Given the description of an element on the screen output the (x, y) to click on. 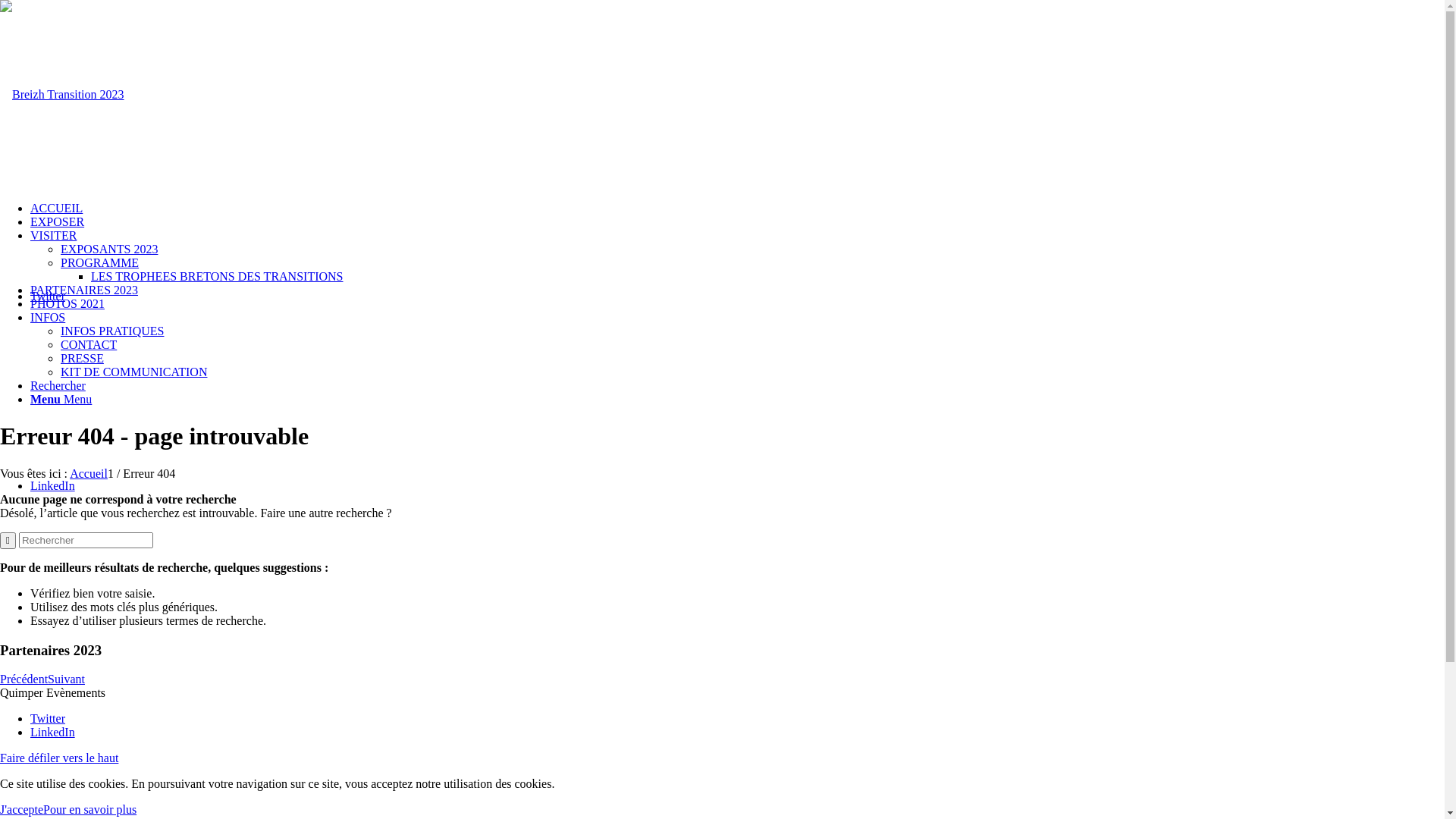
Suivant Element type: text (65, 678)
Menu Menu Element type: text (60, 398)
INFOS Element type: text (47, 316)
Twitter Element type: text (47, 295)
J'accepte Element type: text (21, 809)
CONTACT Element type: text (88, 344)
PHOTOS 2021 Element type: text (67, 303)
Accueil Element type: text (88, 473)
LinkedIn Element type: text (52, 731)
LinkedIn Element type: text (52, 485)
PRESSE Element type: text (81, 357)
Twitter Element type: text (47, 718)
INFOS PRATIQUES Element type: text (111, 330)
PROGRAMME Element type: text (99, 262)
LES TROPHEES BRETONS DES TRANSITIONS Element type: text (217, 275)
EXPOSER Element type: text (57, 221)
VISITER Element type: text (53, 235)
PARTENAIRES 2023 Element type: text (84, 289)
Rechercher Element type: text (57, 385)
Pour en savoir plus Element type: text (89, 809)
EXPOSANTS 2023 Element type: text (108, 248)
ACCUEIL Element type: text (56, 207)
KIT DE COMMUNICATION Element type: text (133, 371)
